Given the description of an element on the screen output the (x, y) to click on. 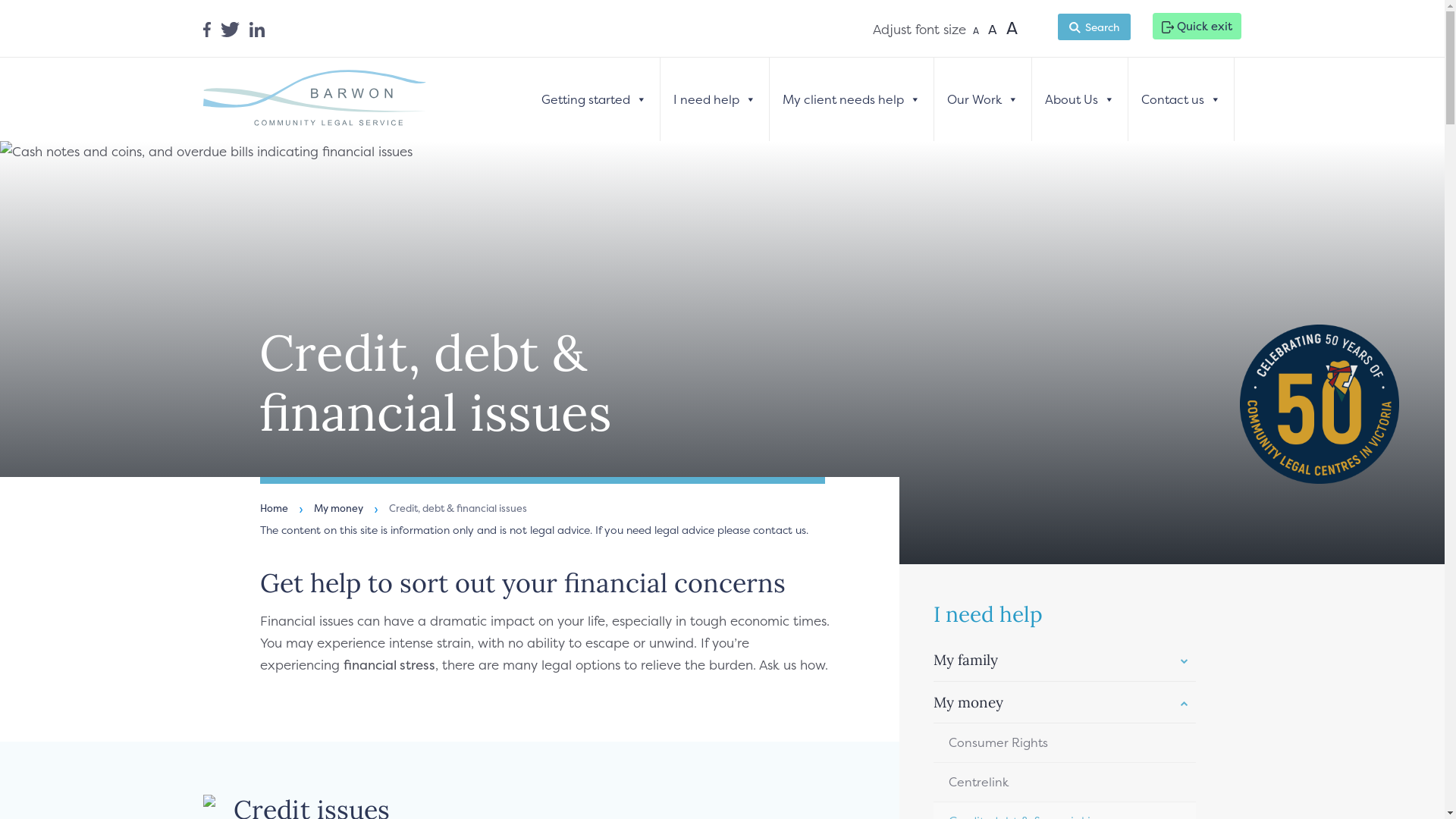
Contact us Element type: text (1181, 99)
My client needs help Element type: text (850, 99)
A
Reset font size. Element type: text (992, 28)
My money Element type: text (338, 507)
I need help Element type: text (713, 99)
Quick exit Element type: text (1196, 25)
Home Element type: text (273, 507)
About Us Element type: text (1079, 99)
My family Element type: text (1064, 660)
Search Element type: text (1093, 26)
Our Work Element type: text (983, 99)
A
Increase font size. Element type: text (1011, 27)
Getting started Element type: text (593, 99)
My money Element type: text (1064, 702)
Centrelink Element type: text (1064, 782)
Consumer Rights Element type: text (1064, 742)
A
Decrease font size. Element type: text (975, 31)
